Given the description of an element on the screen output the (x, y) to click on. 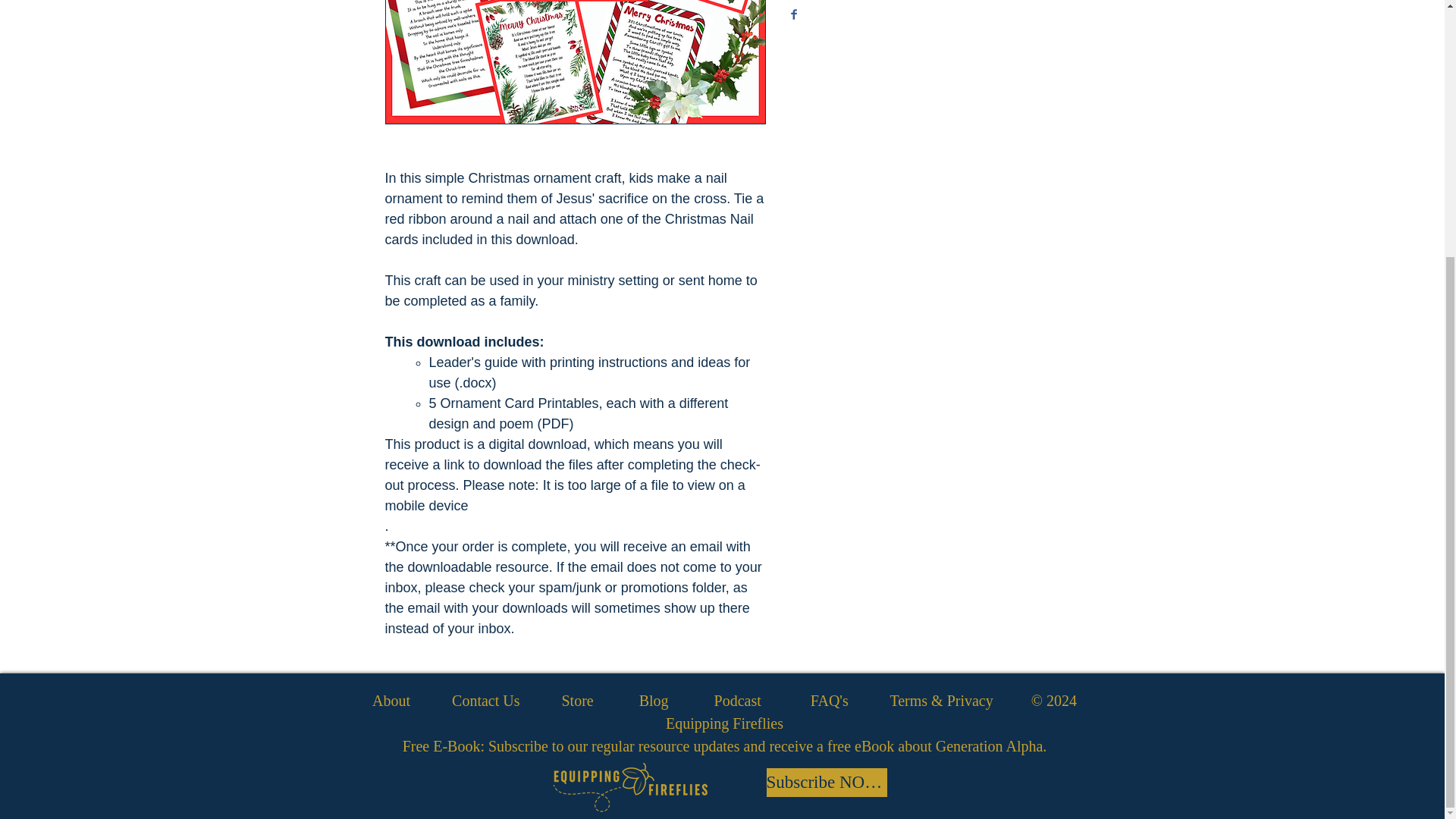
About (391, 700)
FIREFLIES-LOGO-HORIZONTAL-TR-03.png (628, 787)
FAQ's (829, 700)
Contact Us (485, 700)
Subscribe NOW! (825, 782)
Store (576, 700)
Podcast (737, 700)
Blog (653, 700)
